Given the description of an element on the screen output the (x, y) to click on. 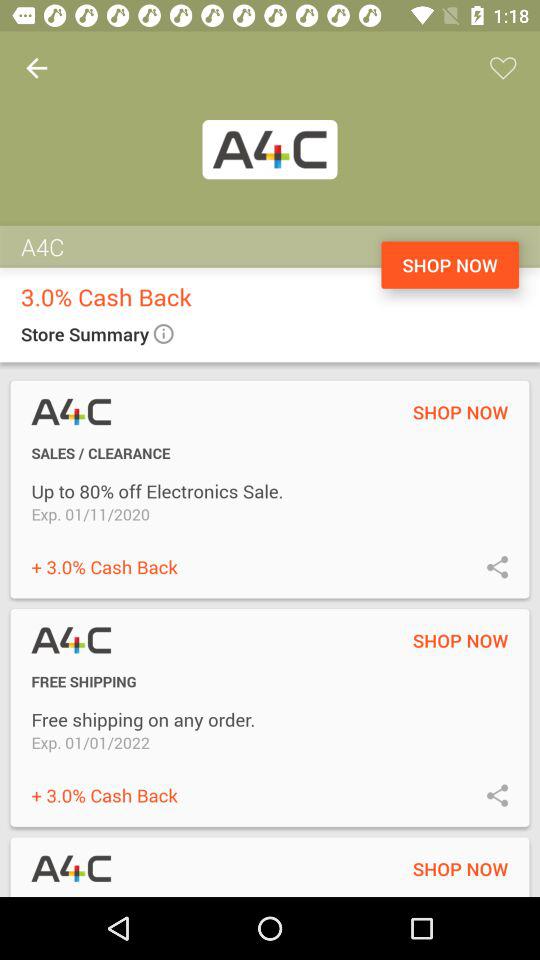
share (497, 566)
